Given the description of an element on the screen output the (x, y) to click on. 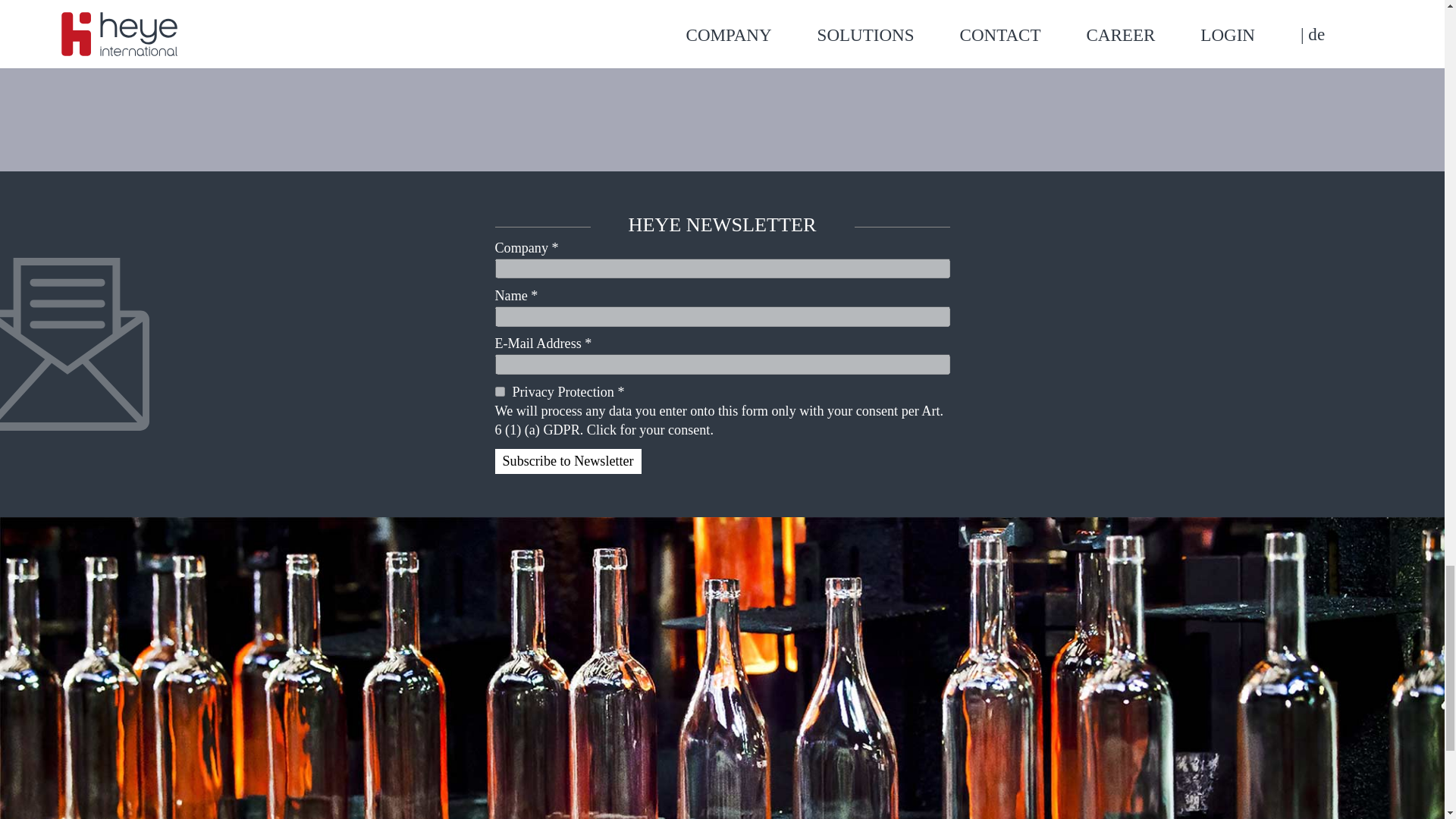
1 (499, 391)
